Given the description of an element on the screen output the (x, y) to click on. 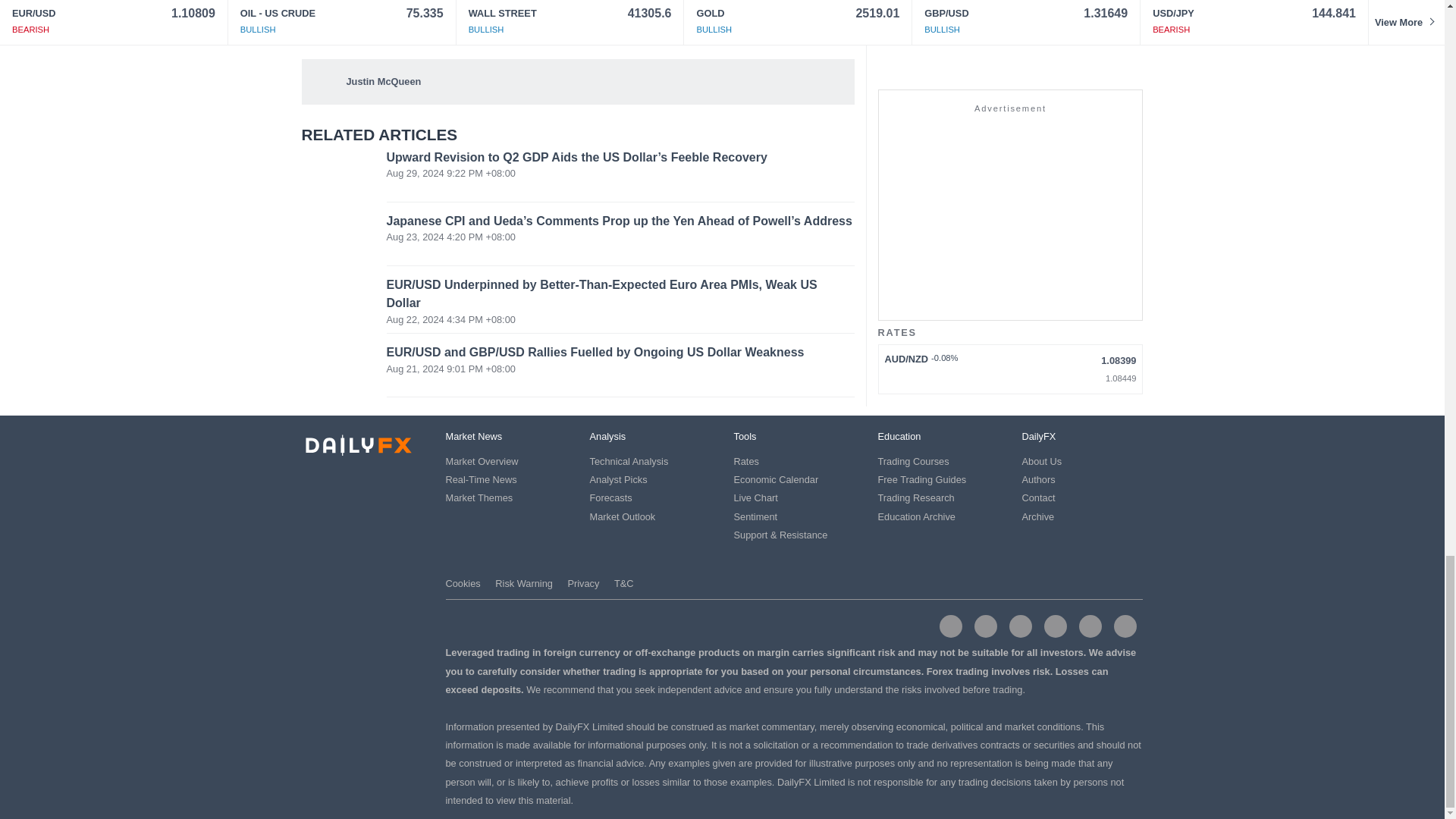
Rates (745, 460)
Forecasts (610, 497)
Real-Time News (480, 479)
Tools (745, 436)
Analysis (607, 436)
Analyst Picks (618, 479)
Technical Analysis (628, 460)
Market Outlook (622, 516)
Market Overview (481, 460)
Market Themes (479, 497)
